Given the description of an element on the screen output the (x, y) to click on. 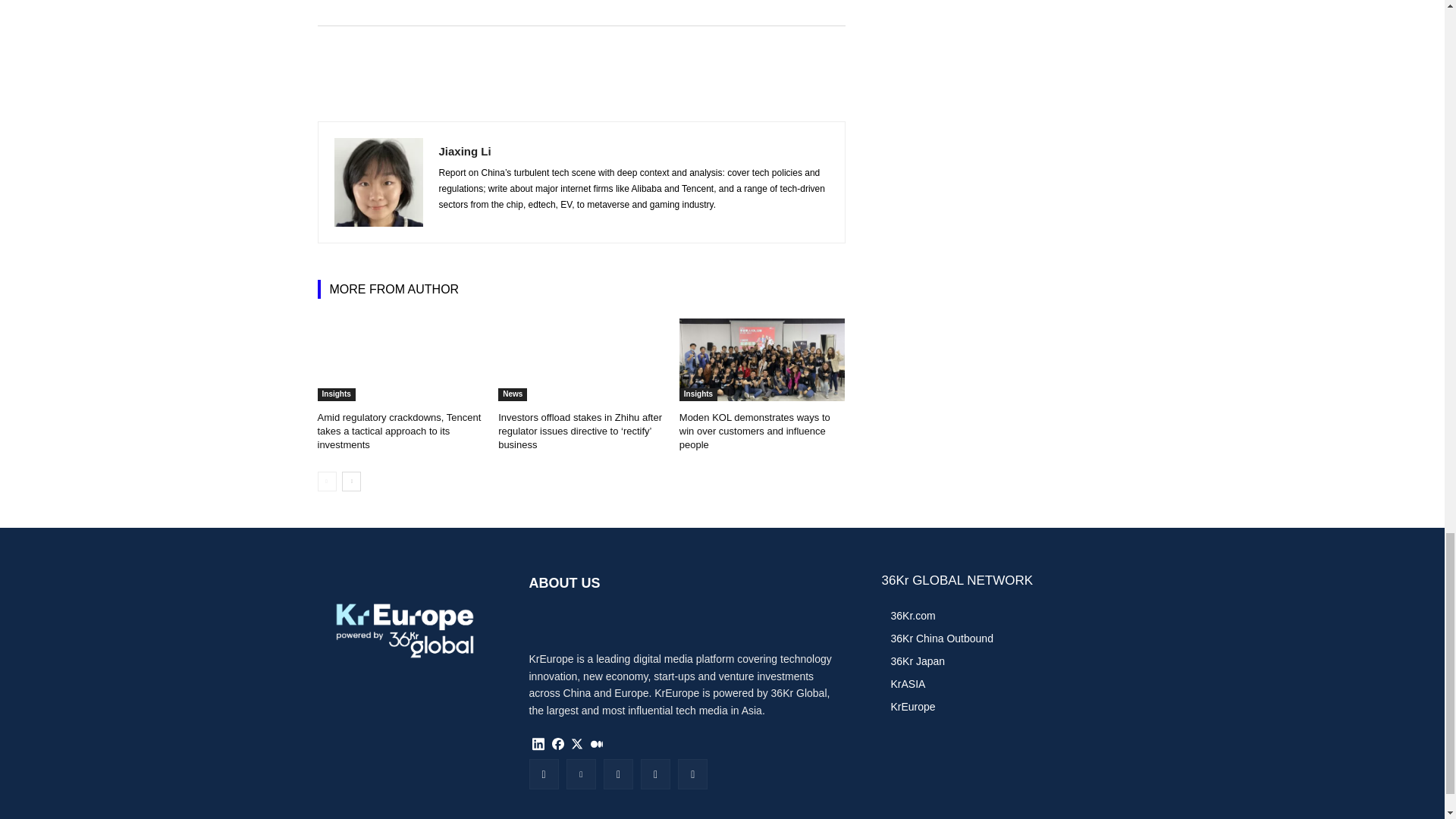
Jiaxing Li (377, 182)
